Given the description of an element on the screen output the (x, y) to click on. 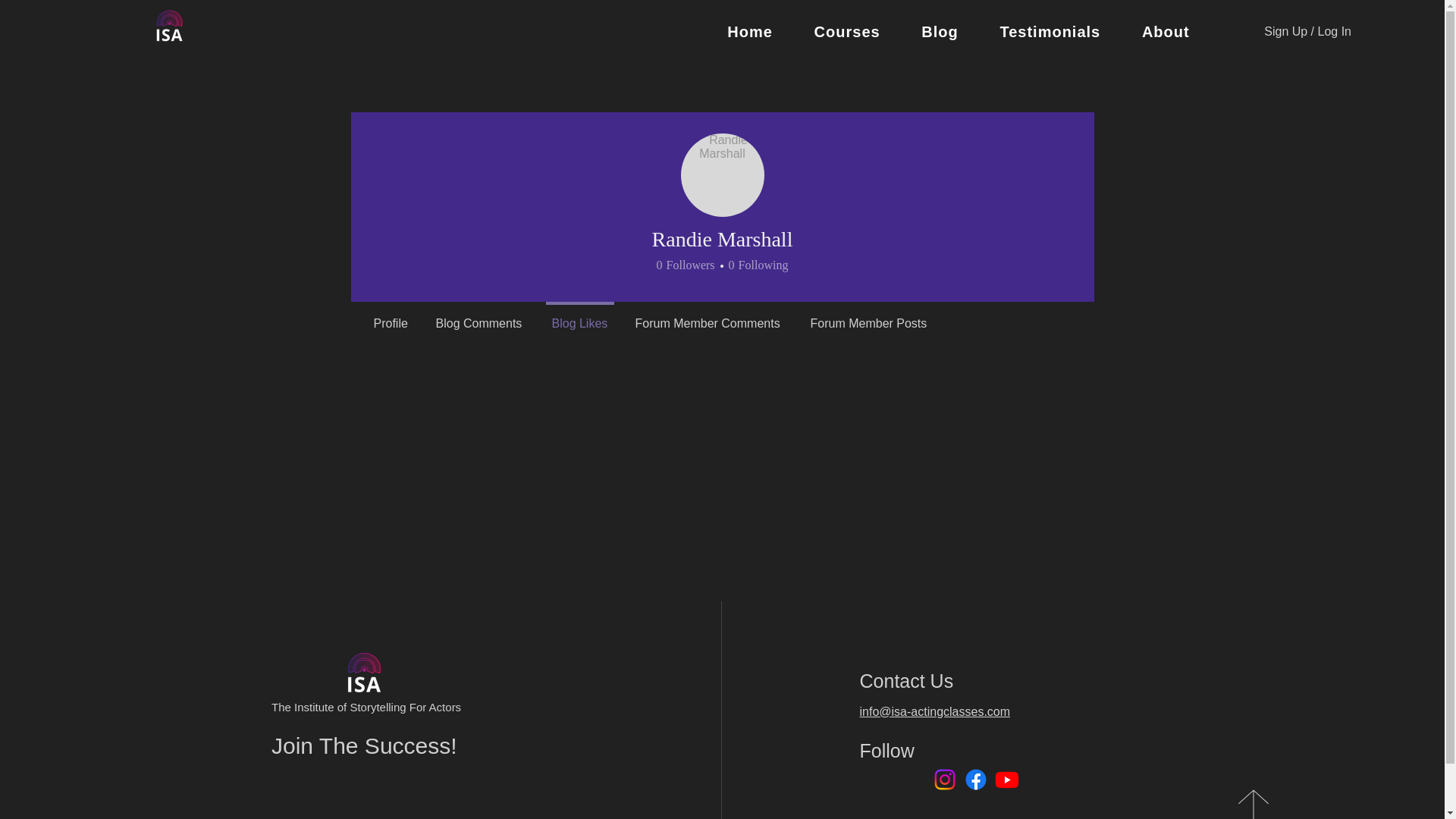
Testimonials (1049, 31)
Blog Comments (479, 317)
Profile (390, 317)
Blog (939, 31)
Forum Member Posts (958, 31)
Forum Member Comments (868, 317)
Randie Marshall (708, 317)
Message (722, 175)
About (955, 139)
Home (1165, 31)
Blog Likes (756, 265)
Follow (685, 265)
